Given the description of an element on the screen output the (x, y) to click on. 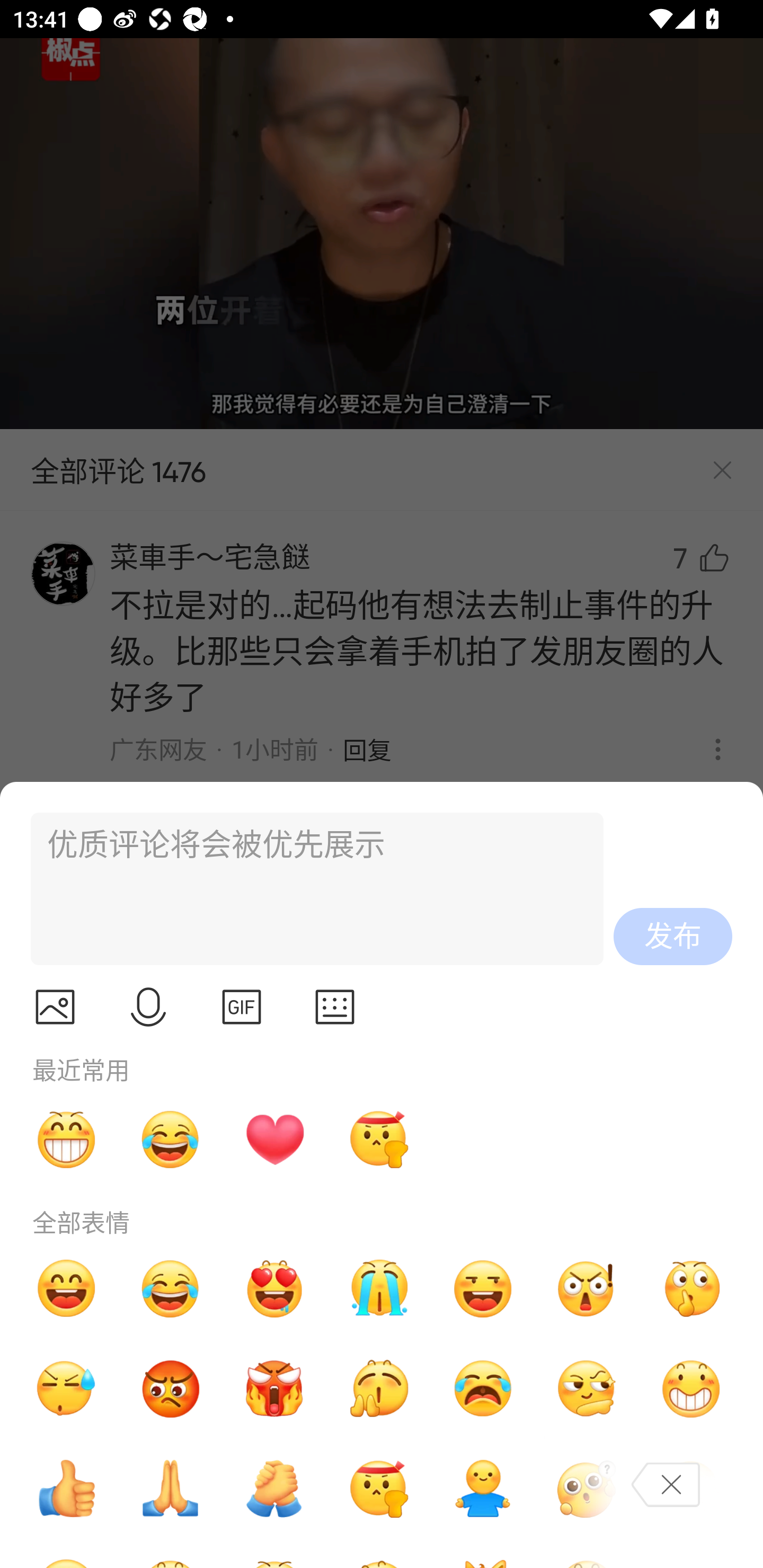
优质评论将会被优先展示 (308, 888)
发布 (672, 936)
 (54, 1007)
 (148, 1007)
 (241, 1007)
 (334, 1007)
呲牙 (66, 1138)
哭笑 (170, 1138)
心 (274, 1138)
奋斗 (378, 1138)
哈哈 (66, 1288)
哭笑 (170, 1288)
喜欢 (274, 1288)
哭 (378, 1288)
嘿嘿 (482, 1288)
吃惊 (586, 1288)
嘘 (690, 1288)
汗 (66, 1389)
生气 (170, 1389)
愤怒 (274, 1389)
喝彩 (378, 1389)
抓狂 (482, 1389)
机智 (586, 1389)
坏笑 (690, 1389)
点赞 (66, 1488)
缅怀 (170, 1488)
加油 (274, 1488)
奋斗 (378, 1488)
抱抱 (482, 1488)
疑问 (586, 1488)
